Given the description of an element on the screen output the (x, y) to click on. 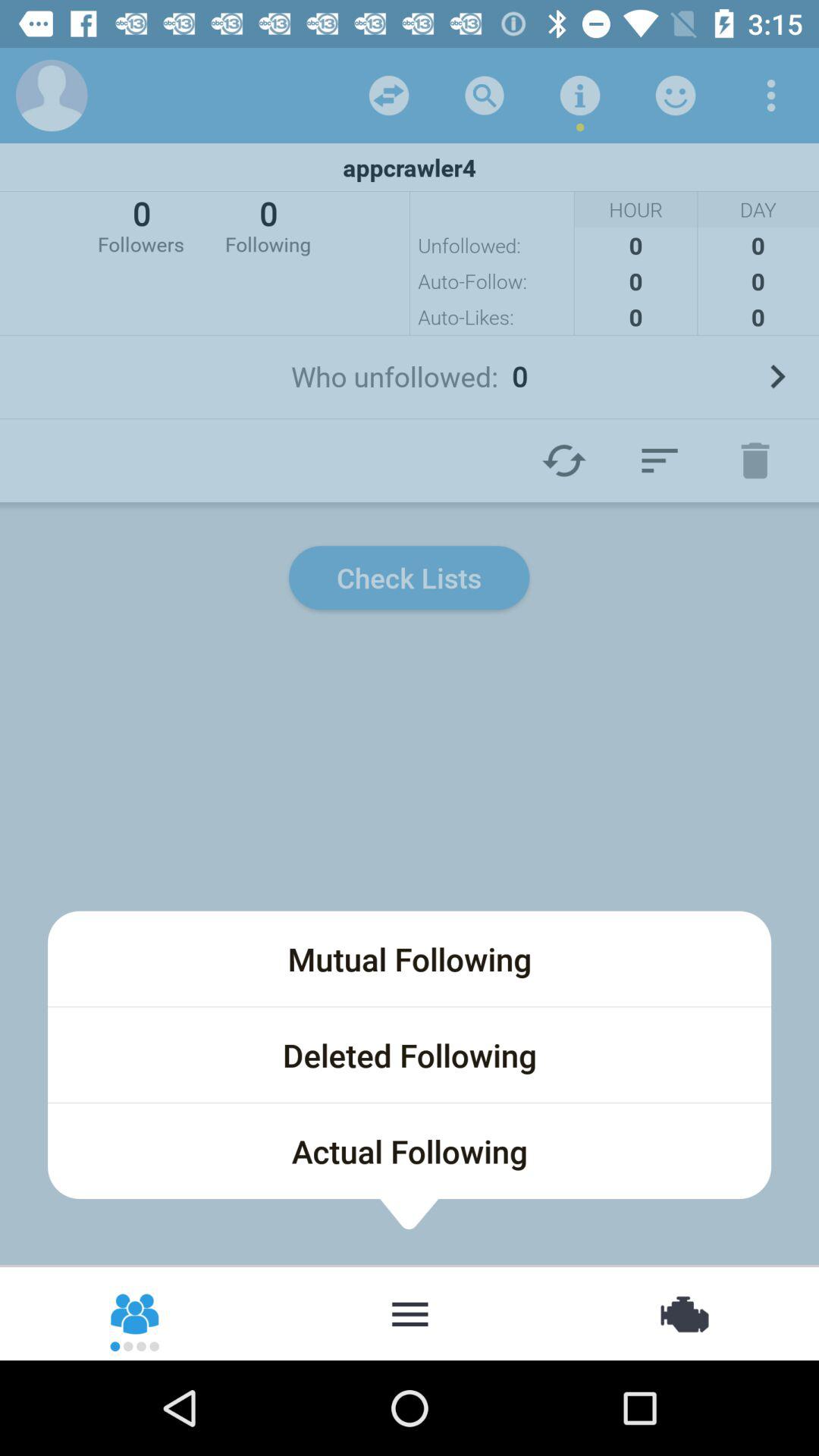
refresh the app (388, 95)
